Given the description of an element on the screen output the (x, y) to click on. 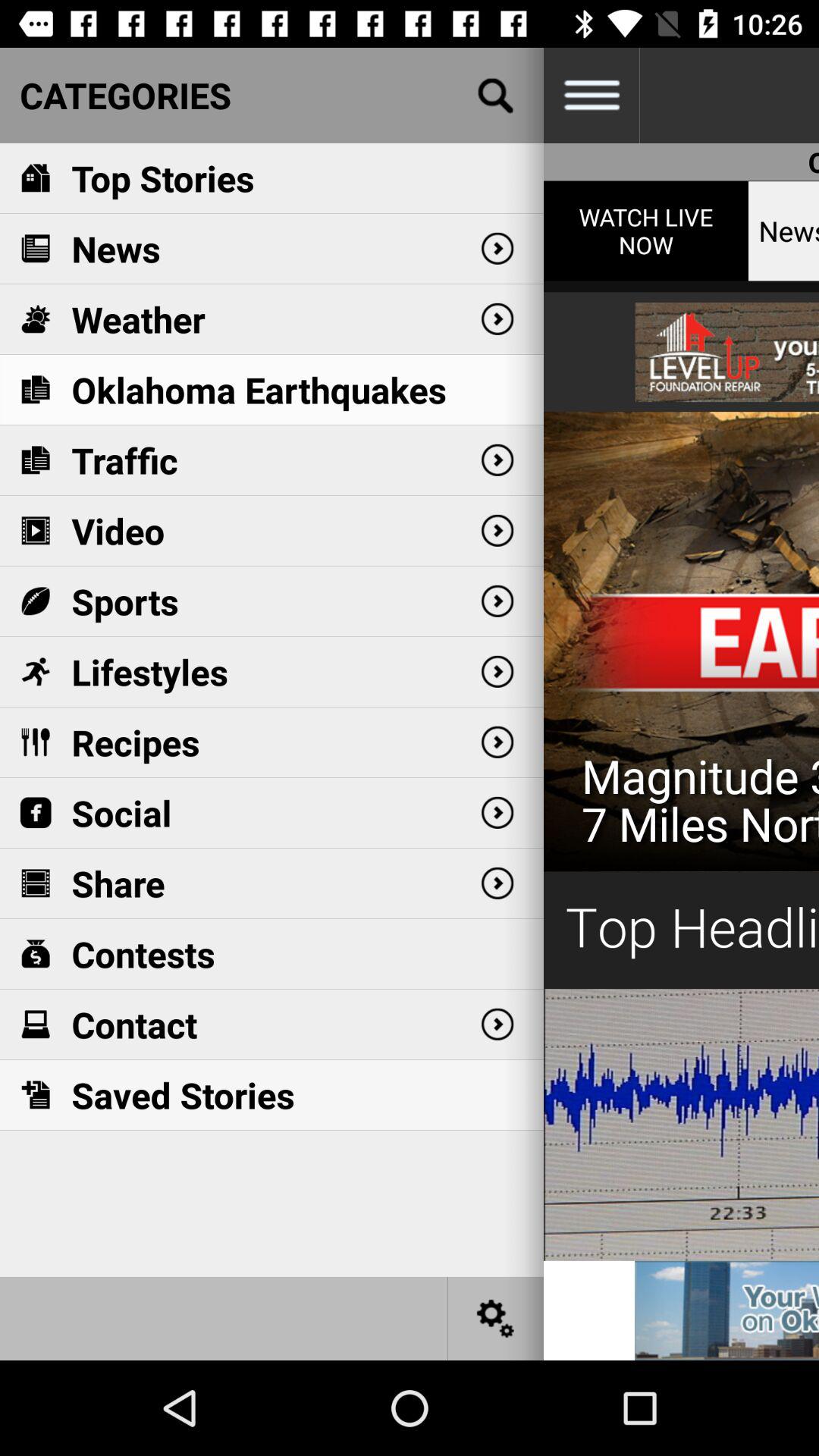
advertisement page (726, 1310)
